Given the description of an element on the screen output the (x, y) to click on. 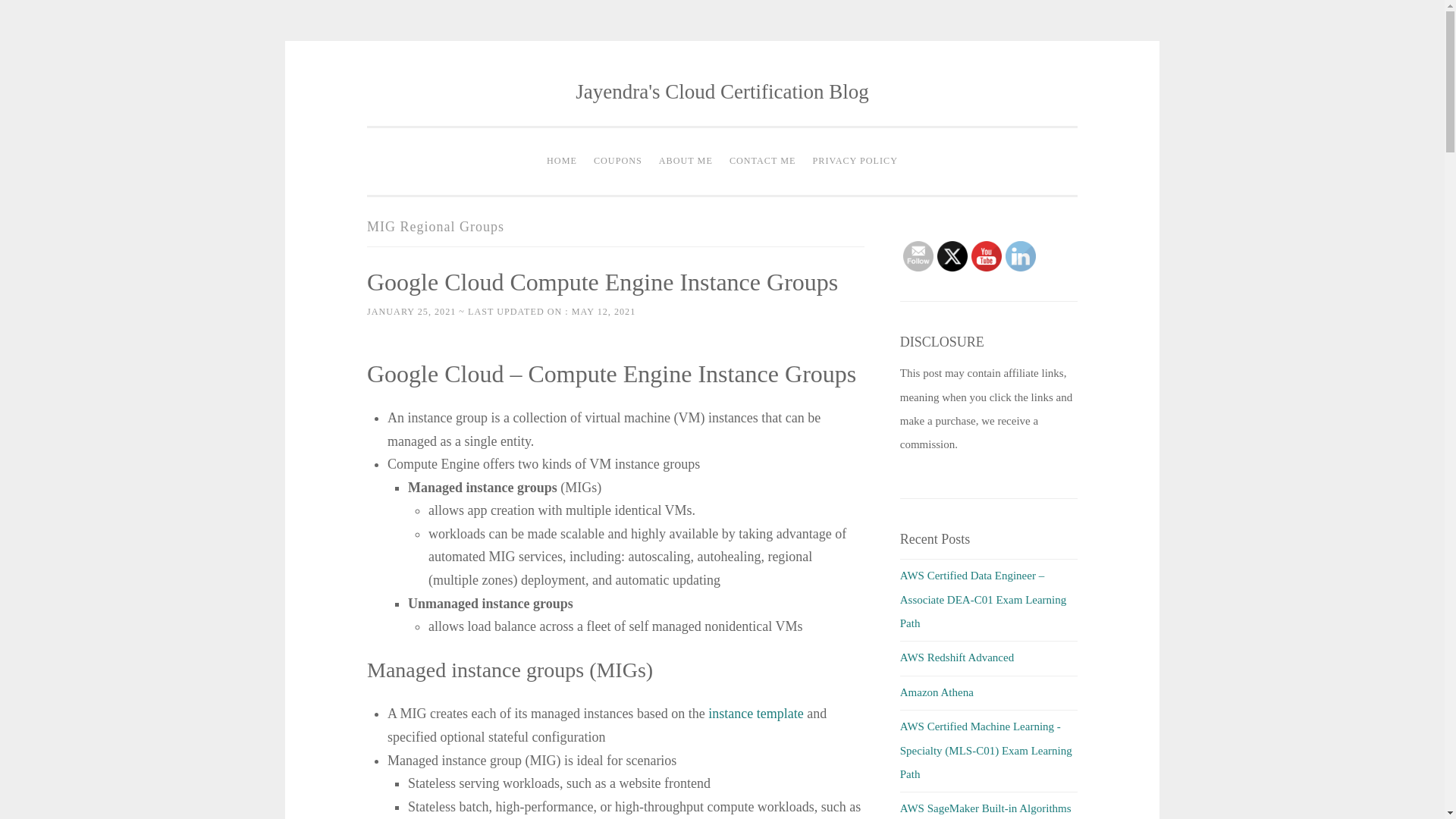
Jayendra's Cloud Certification Blog (722, 91)
Amazon Athena (936, 692)
YouTube (986, 255)
instance template (755, 713)
Twitter (952, 255)
PRIVACY POLICY (855, 161)
CONTACT ME (762, 161)
HOME (561, 161)
ABOUT ME (685, 161)
COUPONS (617, 161)
LinkedIn (1020, 255)
AWS Redshift Advanced (956, 657)
Google Cloud Compute Engine Instance Groups (602, 281)
Follow by Email (917, 255)
